Given the description of an element on the screen output the (x, y) to click on. 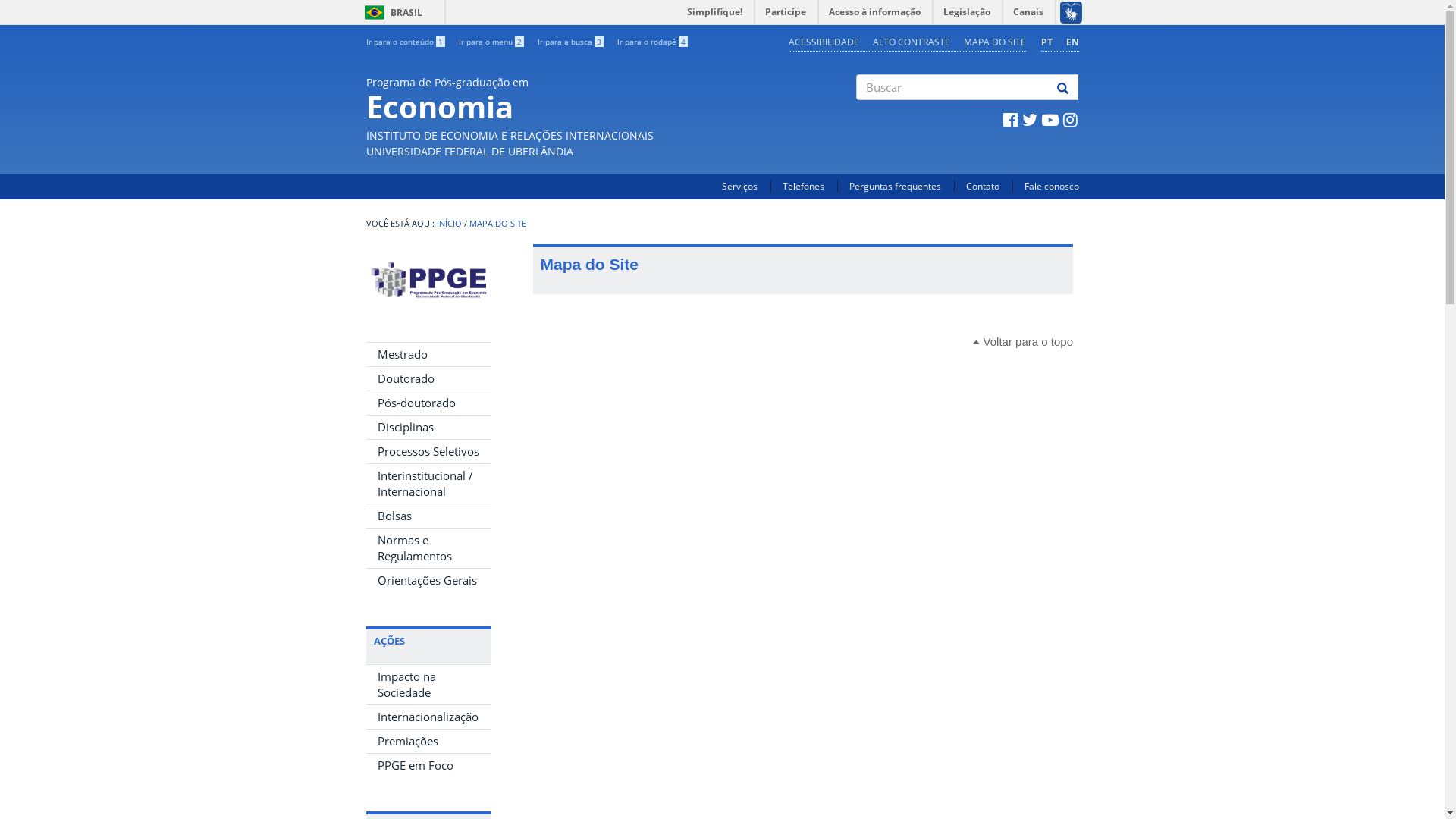
Impacto na Sociedade Element type: text (427, 684)
PT Element type: text (1045, 41)
Ir para o menu 2 Element type: text (490, 41)
Buscar Element type: text (856, 112)
Processos Seletivos Element type: text (427, 451)
PPGE Element type: hover (427, 279)
Interinstitucional / Internacional Element type: text (427, 483)
Bolsas Element type: text (427, 515)
Doutorado Element type: text (427, 378)
ACESSIBILIDADE Element type: text (823, 41)
ALTO CONTRASTE Element type: text (910, 41)
Telefones Element type: text (803, 185)
Contato Element type: text (982, 185)
Voltar para o topo Element type: text (1022, 341)
PPGE em Foco Element type: text (427, 765)
Normas e Regulamentos Element type: text (427, 547)
Fale conosco Element type: text (1050, 185)
BRASIL Element type: text (373, 12)
Ir para a busca 3 Element type: text (569, 41)
Mestrado Element type: text (427, 354)
MAPA DO SITE Element type: text (994, 41)
MAPA DO SITE Element type: text (496, 223)
Disciplinas Element type: text (427, 427)
Perguntas frequentes Element type: text (895, 185)
EN Element type: text (1072, 41)
